Given the description of an element on the screen output the (x, y) to click on. 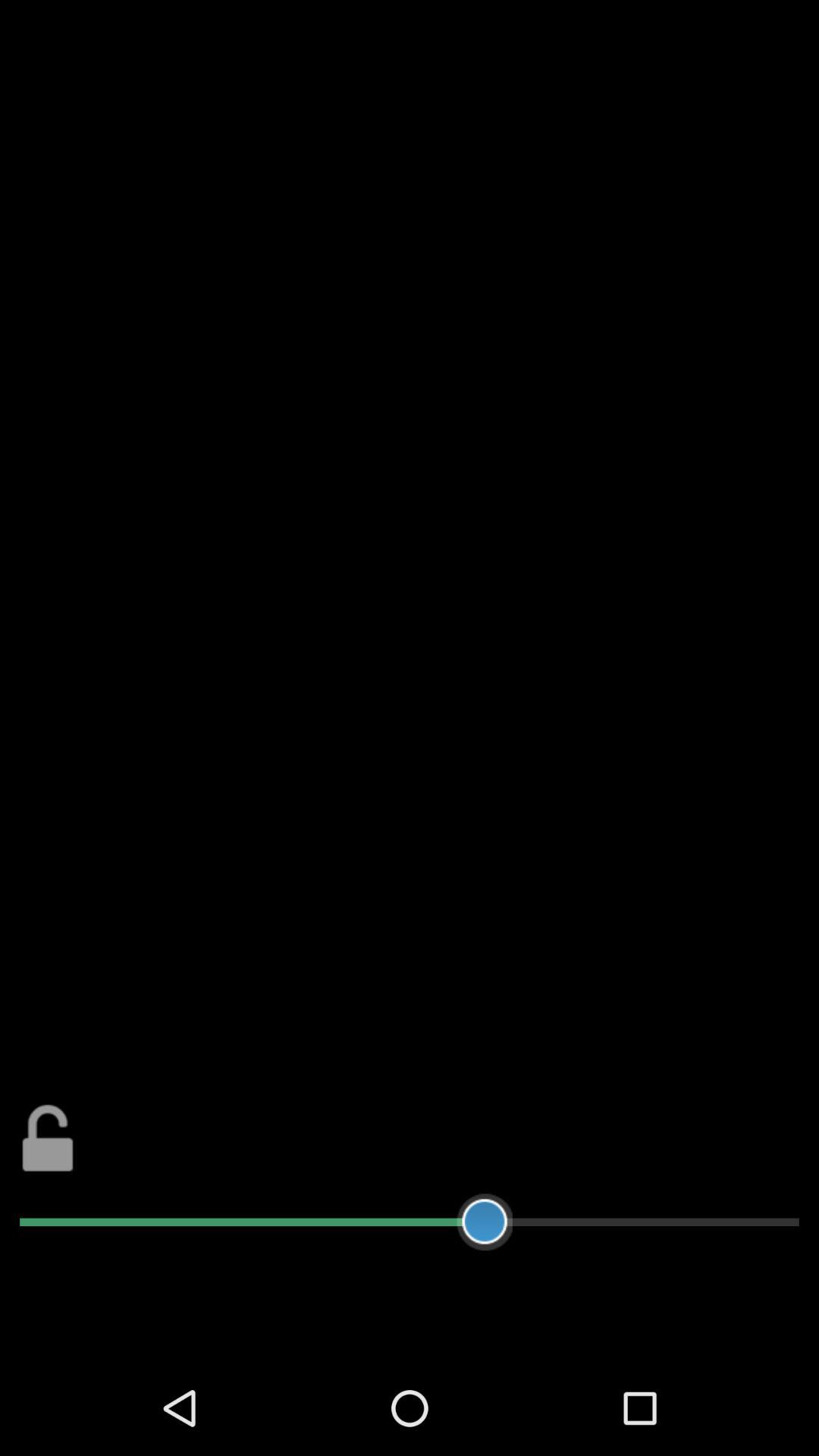
lock screen (47, 1137)
